Given the description of an element on the screen output the (x, y) to click on. 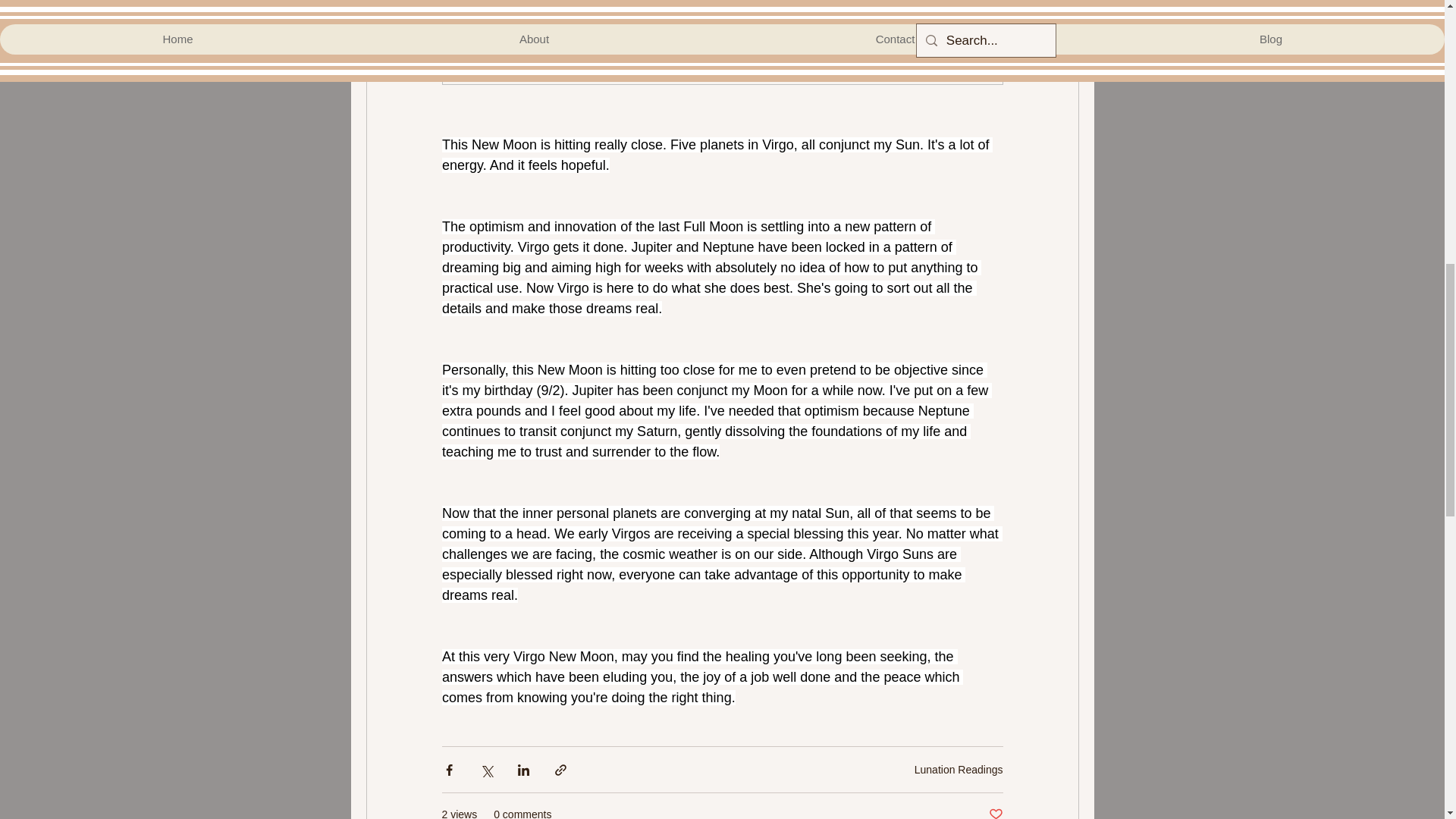
Post not marked as liked (995, 812)
Lunation Readings (958, 768)
